Given the description of an element on the screen output the (x, y) to click on. 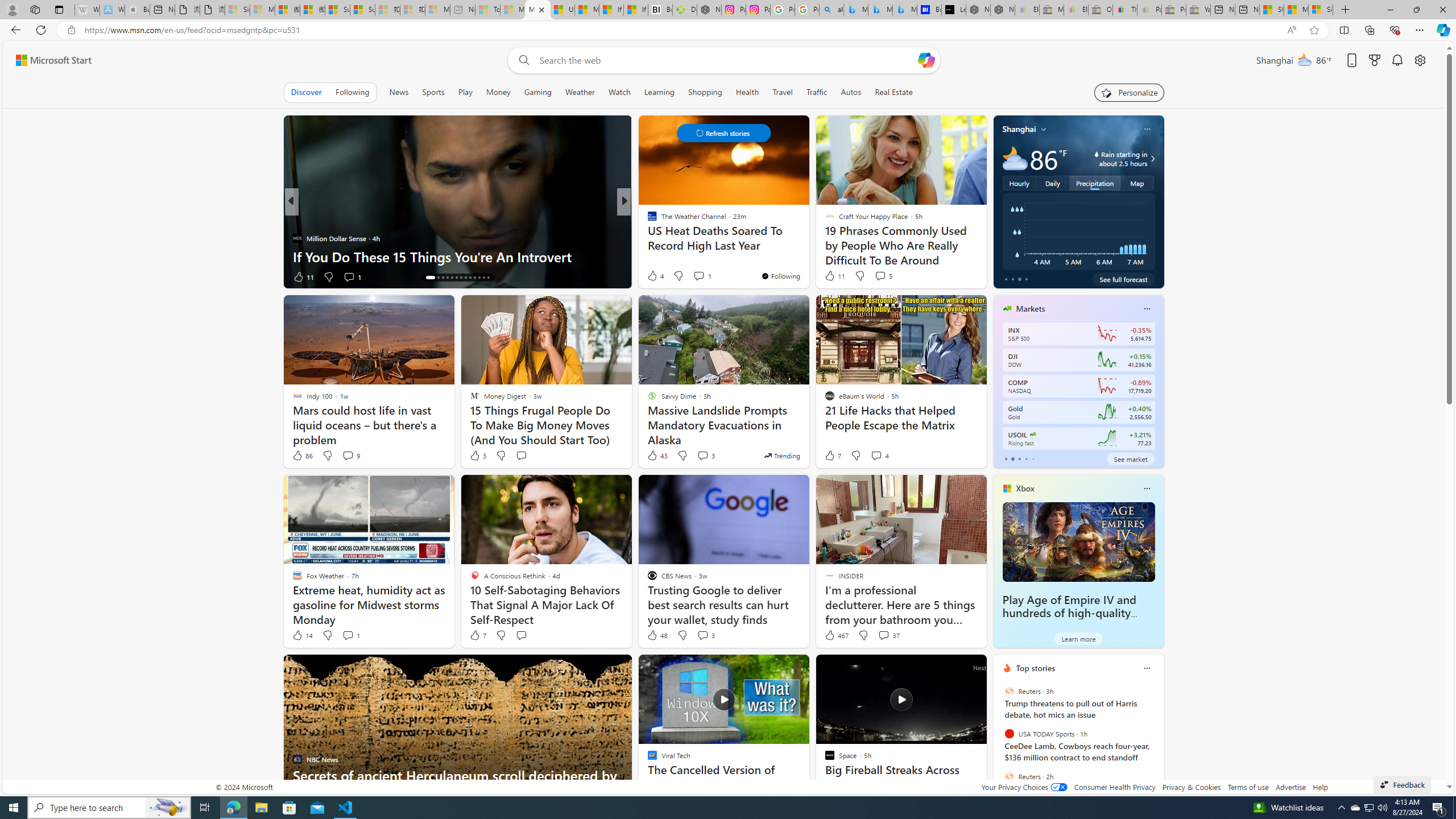
USA TODAY Sports (1008, 733)
View comments 3 Comment (703, 635)
Personalize your feed" (1129, 92)
previous (998, 741)
PC World (647, 219)
My location (1043, 128)
This story is trending (781, 455)
Million Dollar Sense (296, 238)
You're following The Weather Channel (780, 275)
Precipitation (1094, 183)
Autos (850, 92)
